Given the description of an element on the screen output the (x, y) to click on. 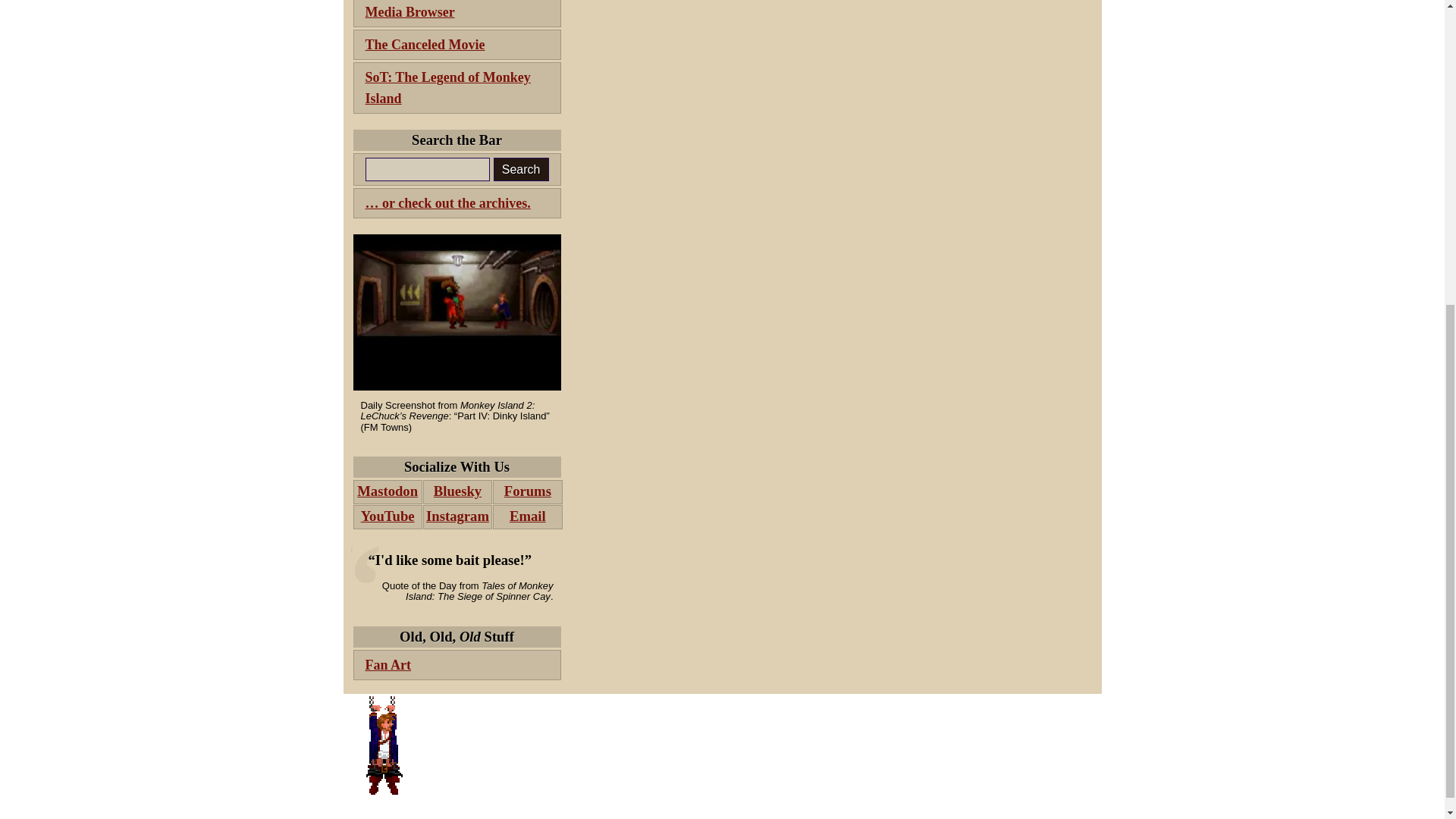
Instagram (457, 517)
Mastodon (387, 491)
YouTube (387, 517)
Bluesky (457, 491)
The Canceled Movie (456, 44)
Forums (527, 491)
Fan Art (456, 665)
Media Browser (456, 13)
SoT: The Legend of Monkey Island (456, 87)
Search (520, 169)
